Given the description of an element on the screen output the (x, y) to click on. 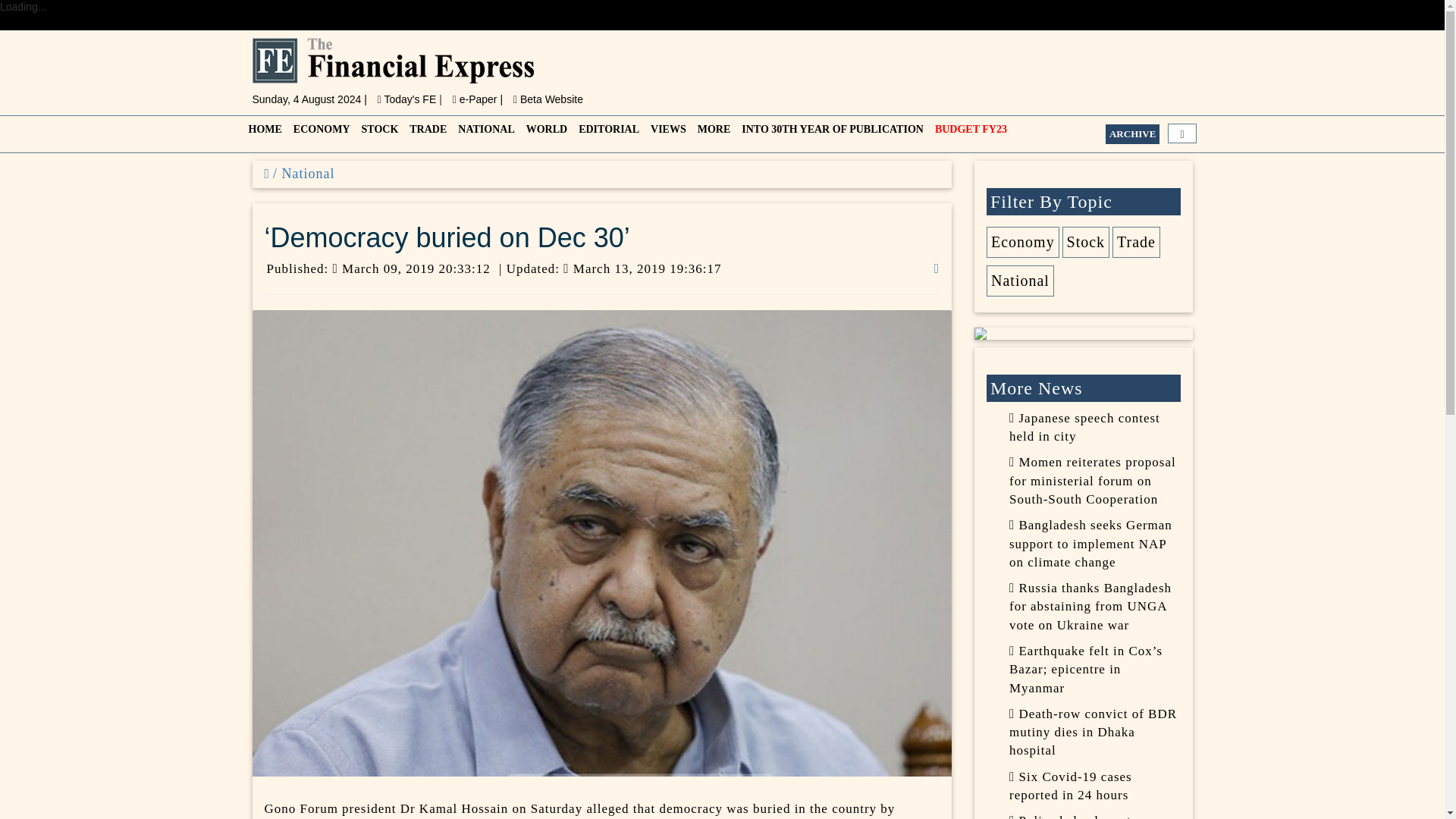
EDITORIAL (606, 134)
TRADE (425, 134)
WORLD (544, 134)
VIEWS (666, 134)
MORE (712, 134)
ARCHIVE (1131, 134)
STOCK (378, 134)
HOME (263, 134)
ECONOMY (319, 134)
Today's FE (408, 99)
Beta Website (548, 99)
NATIONAL (483, 134)
